Given the description of an element on the screen output the (x, y) to click on. 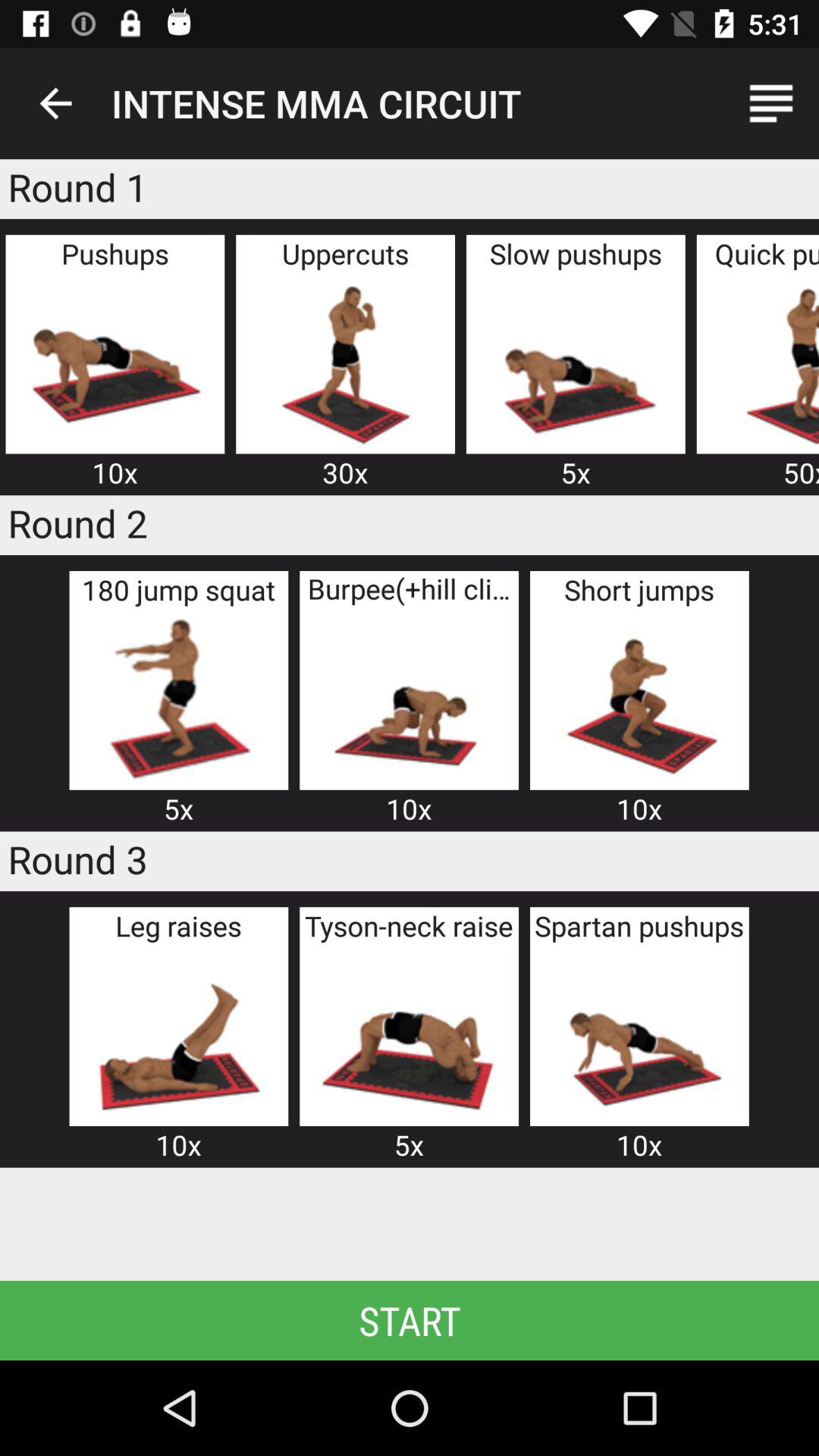
short jumps (638, 698)
